Given the description of an element on the screen output the (x, y) to click on. 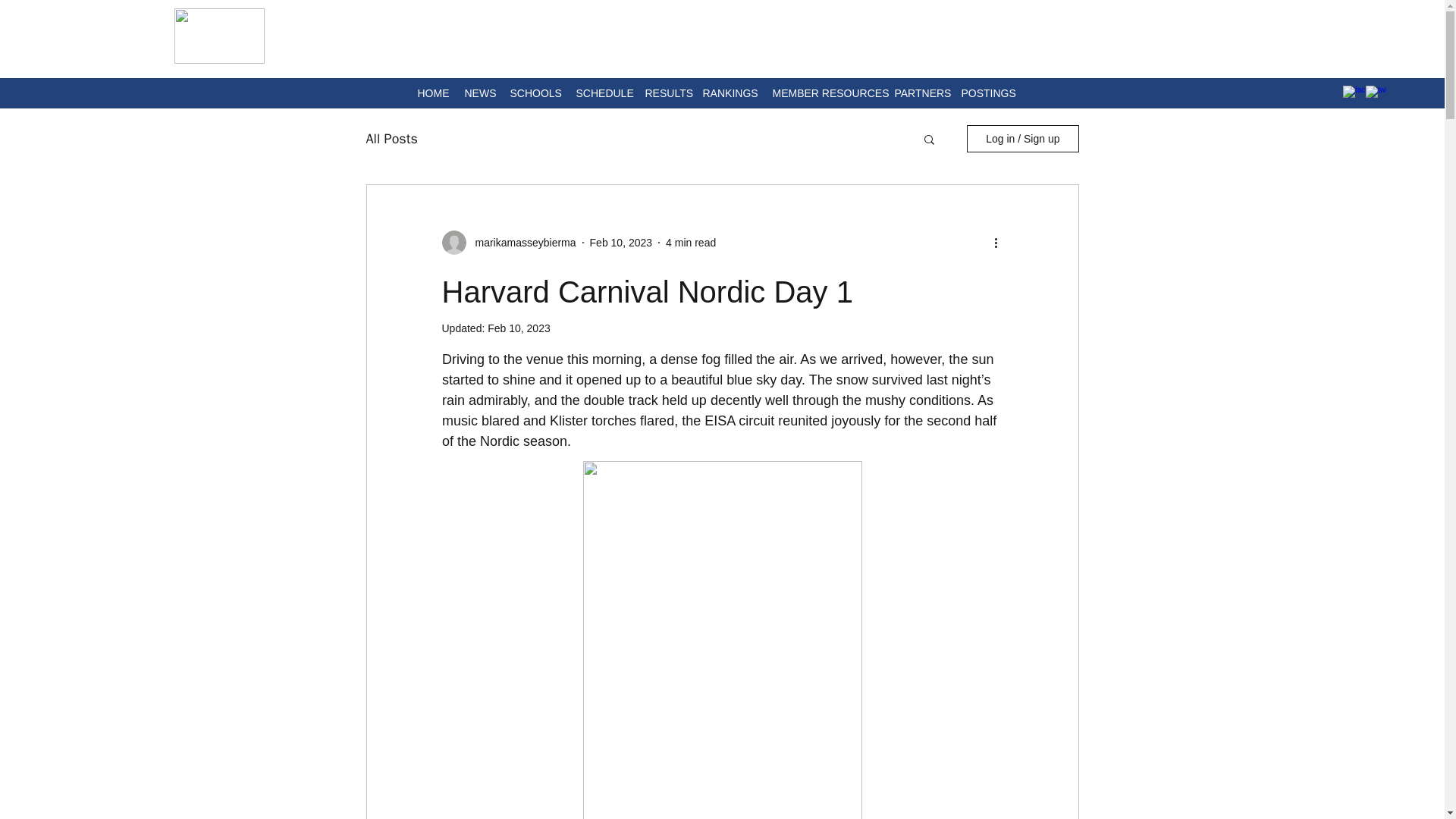
All Posts (390, 138)
marikamasseybierma (520, 242)
PARTNERS (919, 92)
NEWS (479, 92)
Feb 10, 2023 (518, 328)
4 min read (690, 242)
SCHEDULE (602, 92)
HOME (433, 92)
RESULTS (665, 92)
MEMBER RESOURCES (825, 92)
